Given the description of an element on the screen output the (x, y) to click on. 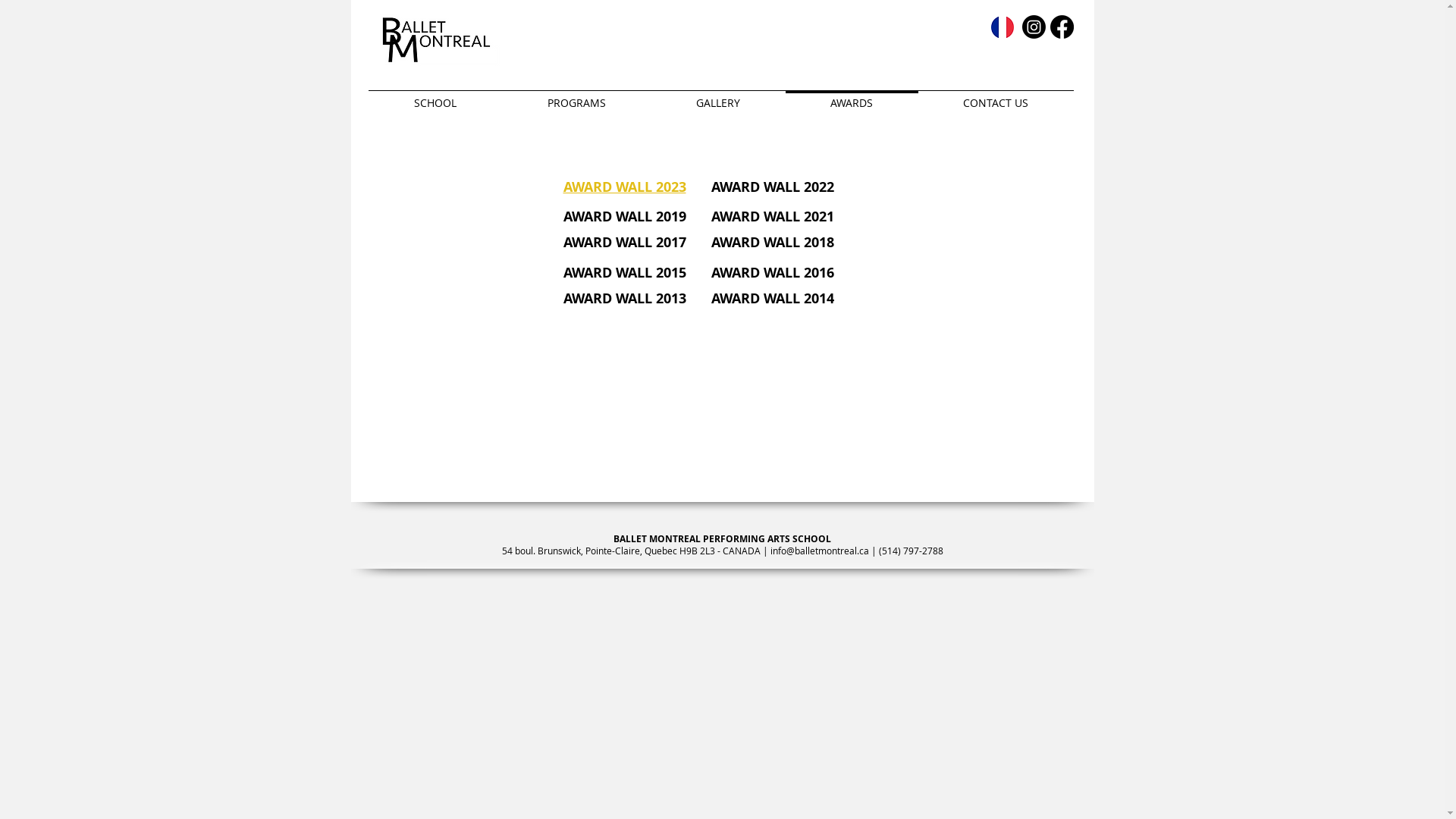
AWARD WALL 2023 Element type: text (623, 186)
AWARDS Element type: text (851, 96)
AWARD WALL 2015 Element type: text (623, 272)
PROGRAMS Element type: text (576, 96)
info@balletmontreal.ca Element type: text (819, 550)
AWARD WALL 2016 Element type: text (772, 272)
AWARD WALL 2014 Element type: text (772, 297)
AWARD WALL 2018 Element type: text (772, 241)
CONTACT US Element type: text (995, 96)
AWARD WALL 2022 Element type: text (772, 186)
SCHOOL Element type: text (435, 96)
AWARD WALL 2017 Element type: text (623, 241)
AWARD WALL 2019 Element type: text (623, 216)
AWARD WALL 2013 Element type: text (623, 297)
AWARD WALL 2021 Element type: text (772, 216)
GALLERY Element type: text (717, 96)
